Given the description of an element on the screen output the (x, y) to click on. 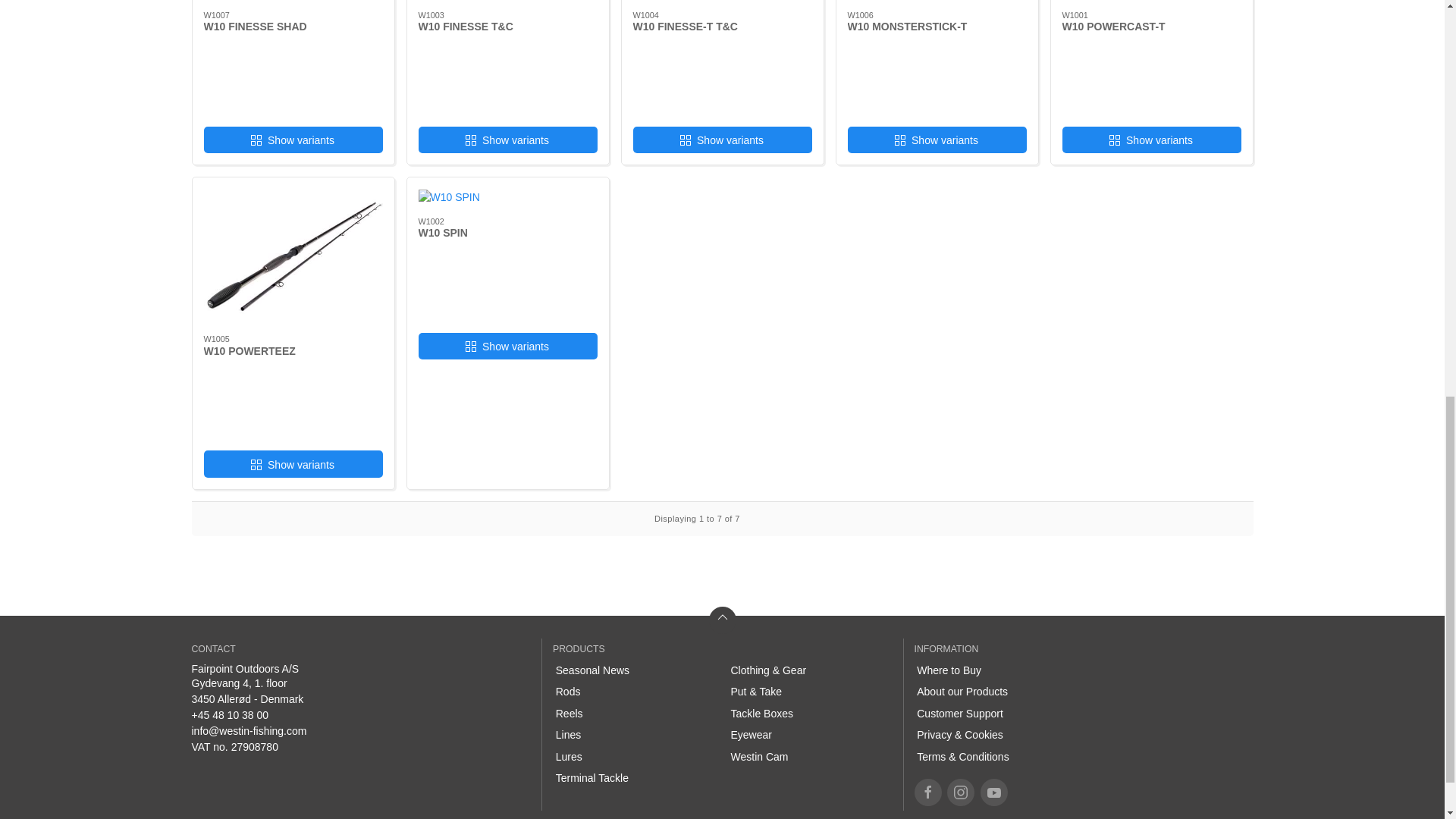
Youtube (993, 791)
Facebook (928, 791)
W10 MONSTERSTICK-T (907, 26)
W10 POWERCAST-T (1112, 26)
Show variants (1150, 139)
Instagram (960, 791)
Show variants (292, 139)
Show variants (936, 139)
Show variants (507, 139)
Show variants (720, 139)
